Given the description of an element on the screen output the (x, y) to click on. 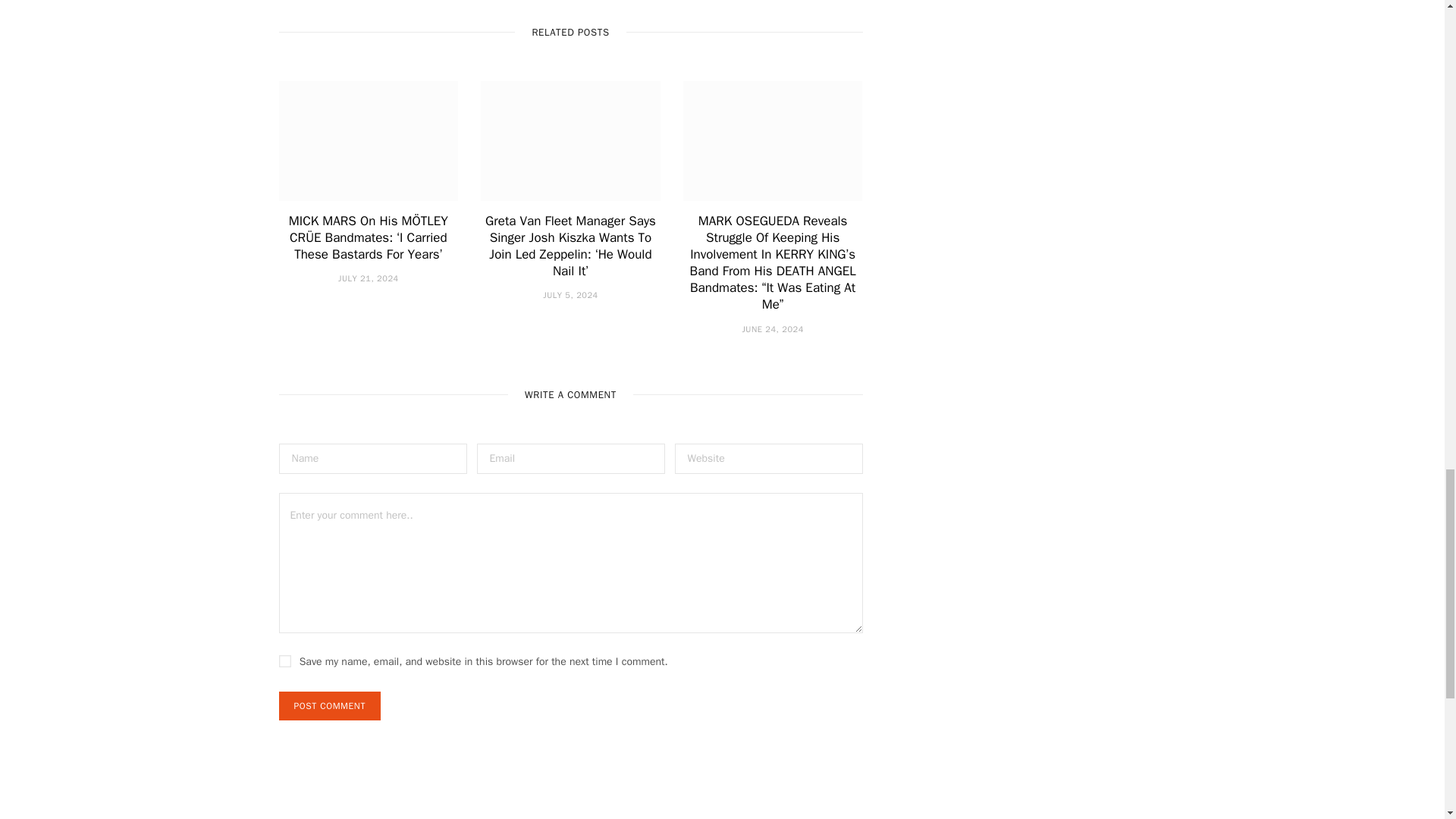
JULY 21, 2024 (367, 277)
Post Comment (329, 705)
JULY 5, 2024 (570, 294)
JUNE 24, 2024 (772, 327)
yes (285, 661)
